Given the description of an element on the screen output the (x, y) to click on. 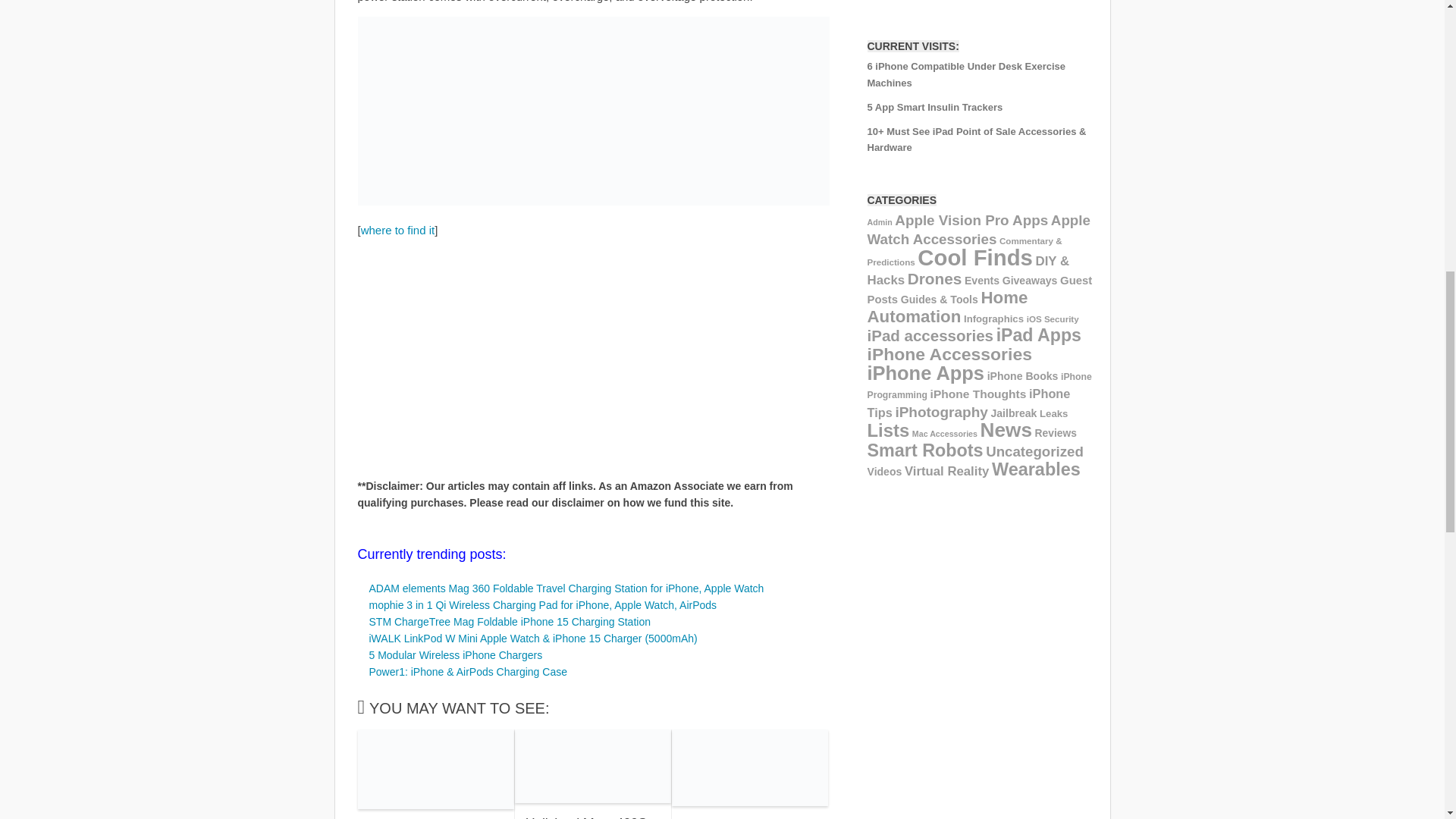
5 Modular Wireless iPhone Chargers (454, 654)
STM ChargeTree Mag Foldable iPhone 15 Charging Station (508, 621)
